Given the description of an element on the screen output the (x, y) to click on. 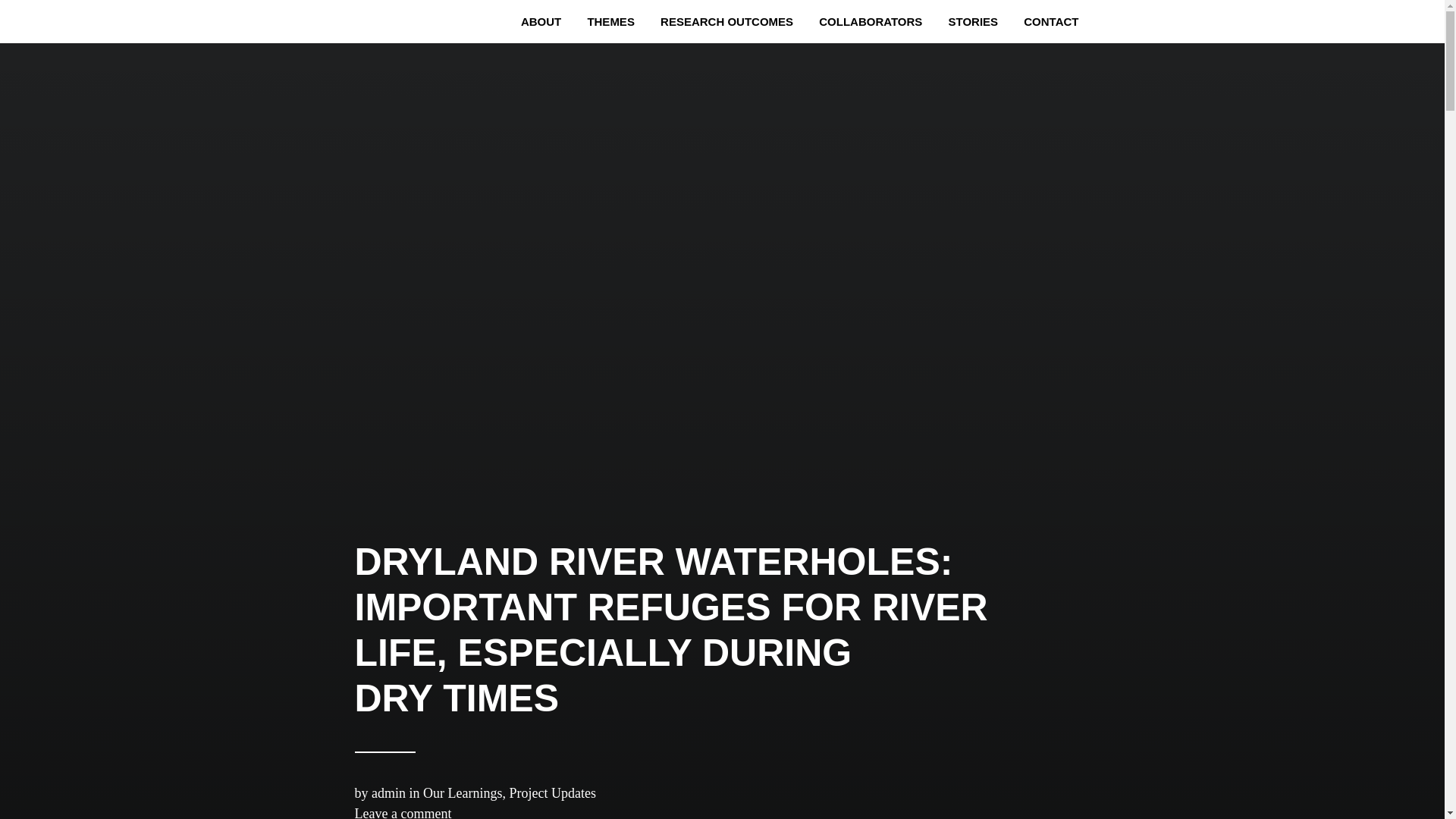
COLLABORATORS (870, 21)
Leave a comment (403, 812)
Our Learnings (462, 792)
RESEARCH OUTCOMES (727, 21)
STORIES (973, 21)
CONTACT (1050, 21)
THEMES (610, 21)
admin (388, 792)
ABOUT (540, 21)
Project Updates (551, 792)
